Given the description of an element on the screen output the (x, y) to click on. 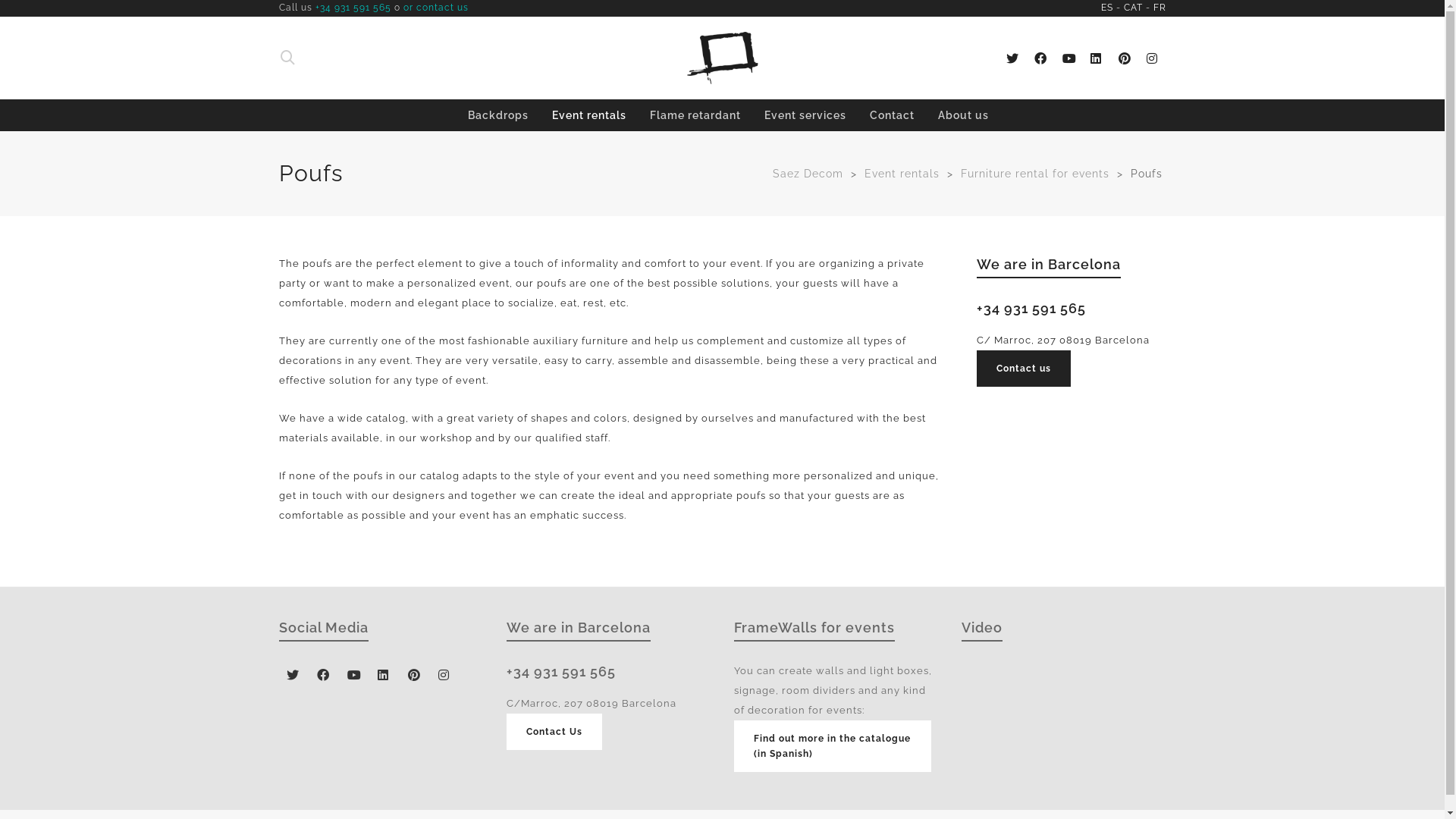
+34 931 591 565 Element type: text (353, 7)
Saez Decom Element type: text (806, 173)
Backdrops Element type: text (497, 115)
Contact Us Element type: text (554, 731)
ES Element type: text (1107, 7)
Furniture rental for events Element type: text (1034, 173)
Event rentals Element type: text (901, 173)
About us Element type: text (963, 115)
Event services Element type: text (804, 115)
Event rentals Element type: text (588, 115)
Contact Element type: text (891, 115)
FR Element type: text (1158, 7)
Flame retardant Element type: text (695, 115)
Find out more in the catalogue (in Spanish) Element type: text (832, 745)
or contact us Element type: text (435, 7)
Productos para eventos Saez DeCom 2016 Element type: hover (1063, 721)
CAT Element type: text (1132, 7)
Contact us Element type: text (1023, 368)
